Given the description of an element on the screen output the (x, y) to click on. 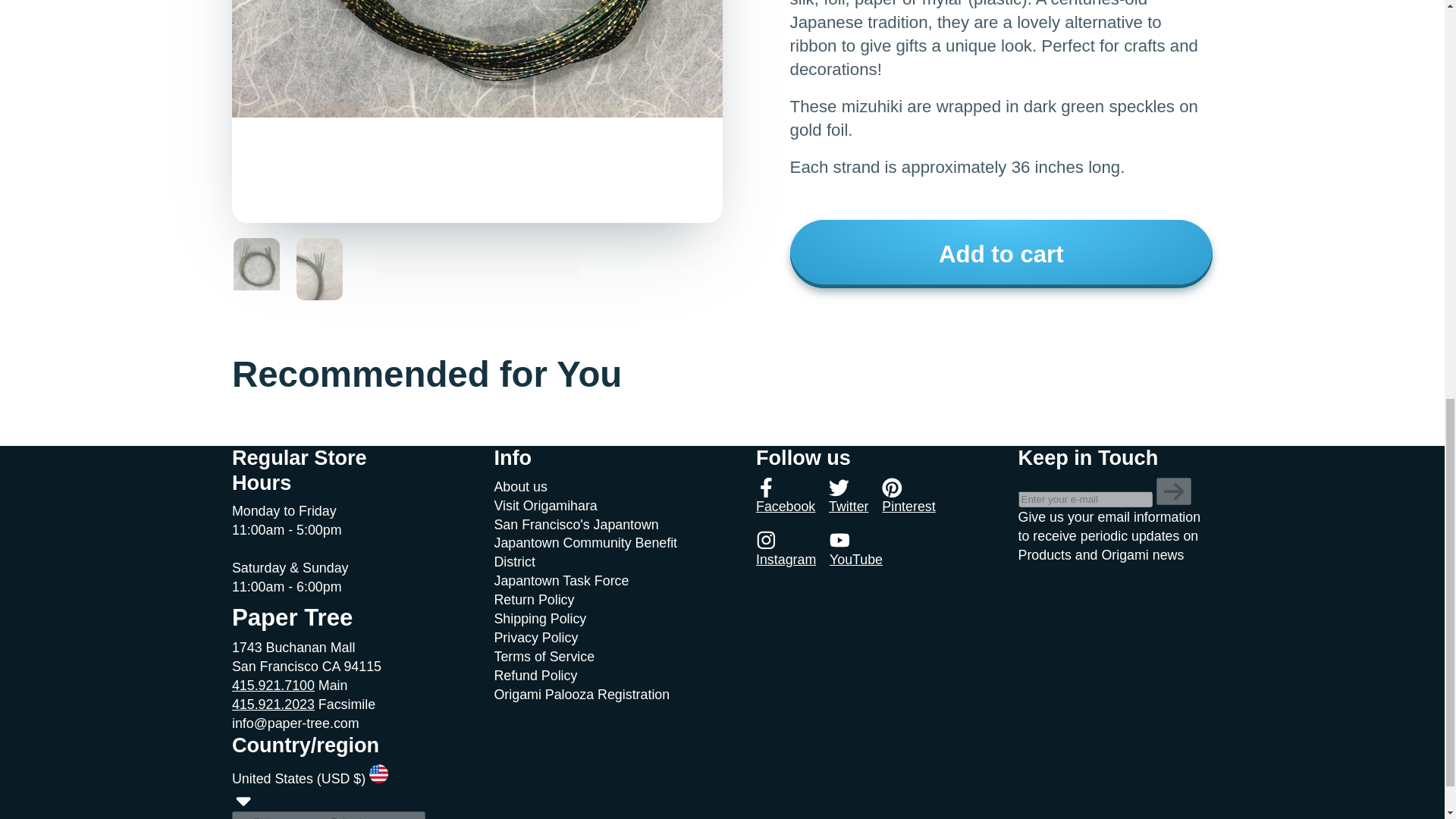
Add to cart (1001, 254)
Visit Origamihara (544, 505)
415.921.7100 (272, 685)
About us (520, 486)
415.921.2023 (272, 703)
